Given the description of an element on the screen output the (x, y) to click on. 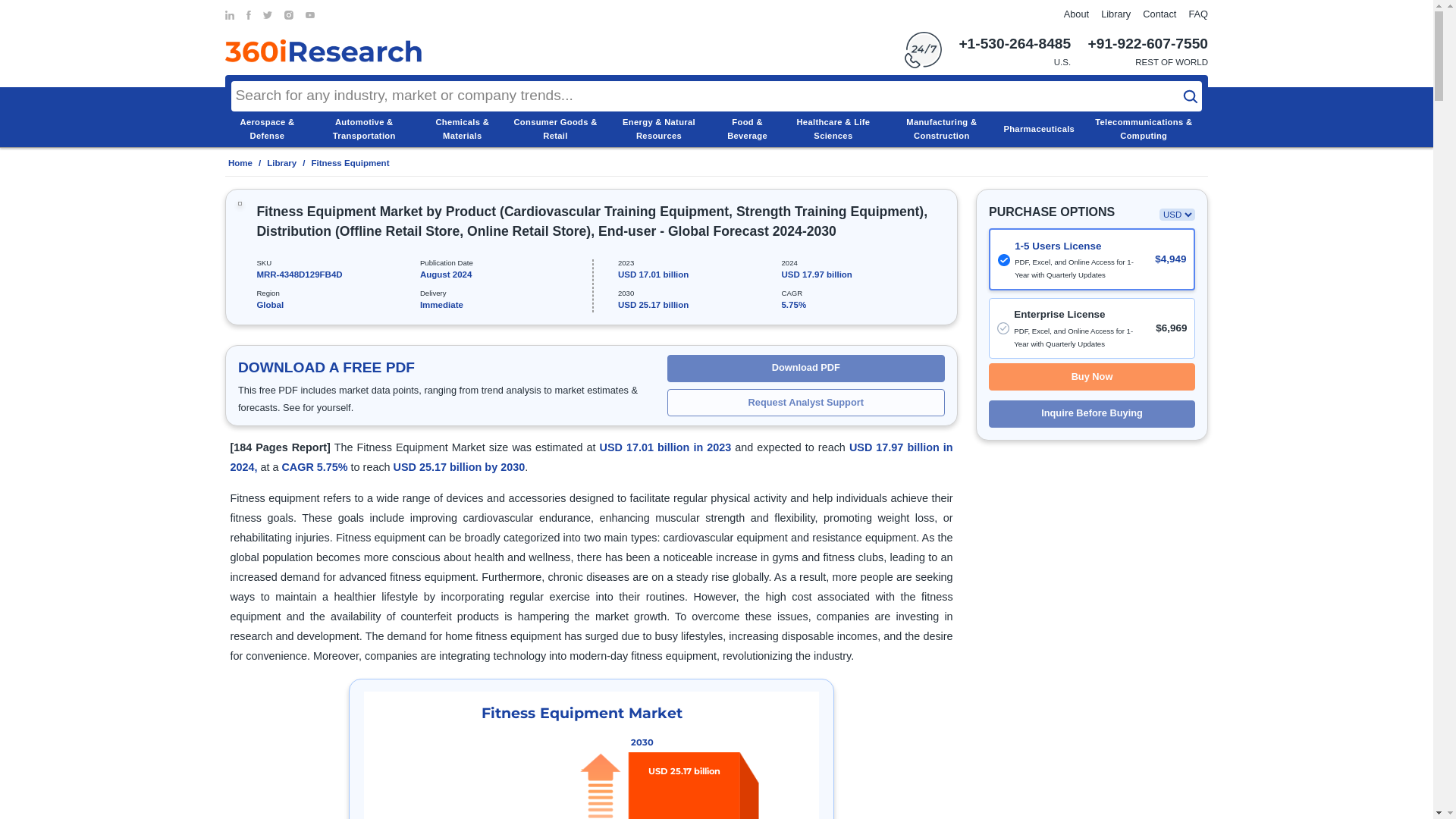
Request Analyst Support (805, 402)
About (1076, 13)
Library (281, 162)
Library (1115, 13)
Download PDF (805, 368)
Buy Now (1091, 376)
360iResearch Instagram (288, 14)
360iResearch Twitter (267, 14)
Contact (1159, 13)
Contact (1159, 13)
